Given the description of an element on the screen output the (x, y) to click on. 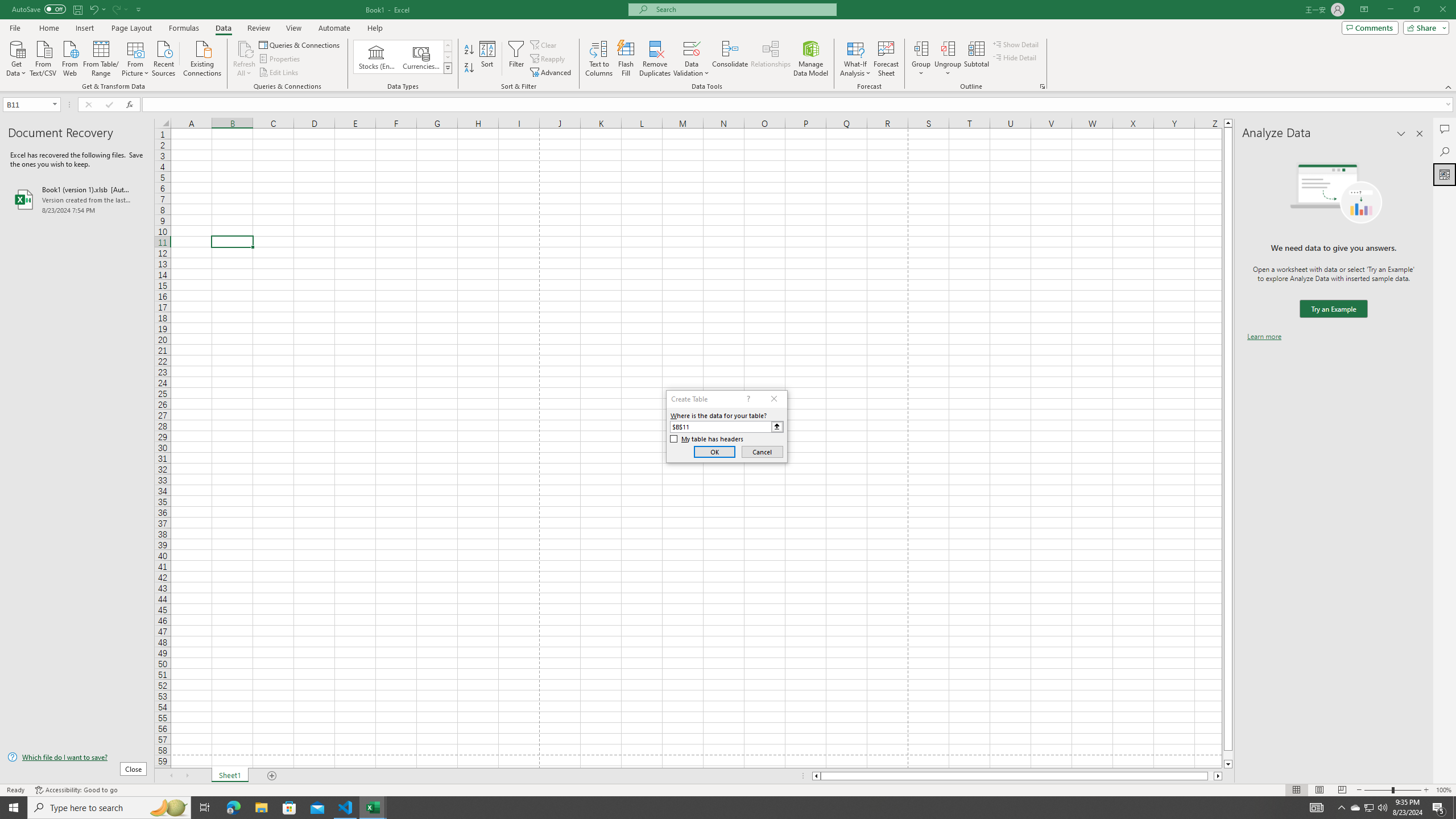
Queries & Connections (300, 44)
Recent Sources (163, 57)
From Web (69, 57)
AutomationID: ConvertToLinkedEntity (403, 56)
Sort Z to A (469, 67)
